Given the description of an element on the screen output the (x, y) to click on. 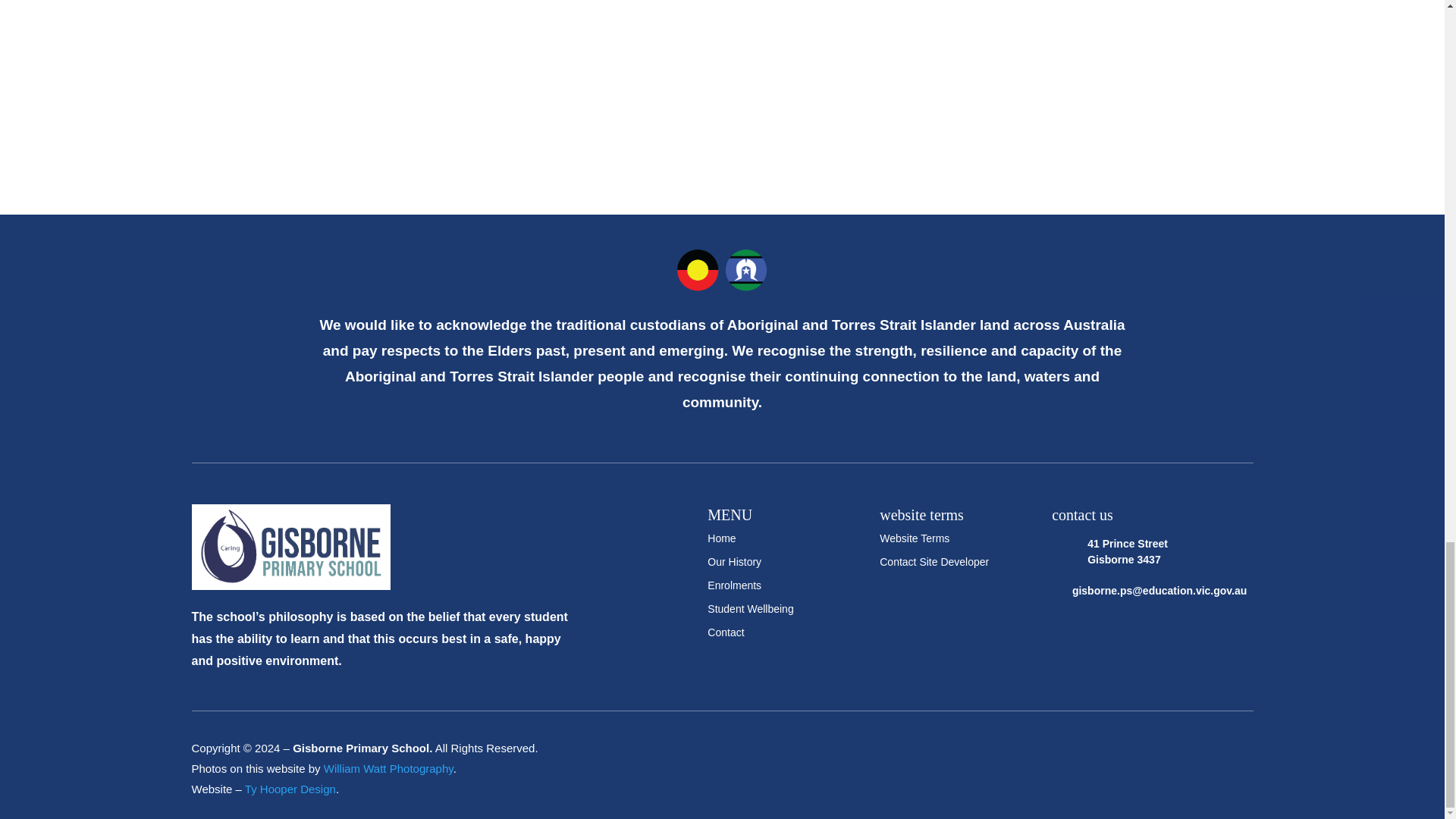
aboriginal-flag (721, 270)
Untitled-1-Recovered-Recovered (290, 546)
